Given the description of an element on the screen output the (x, y) to click on. 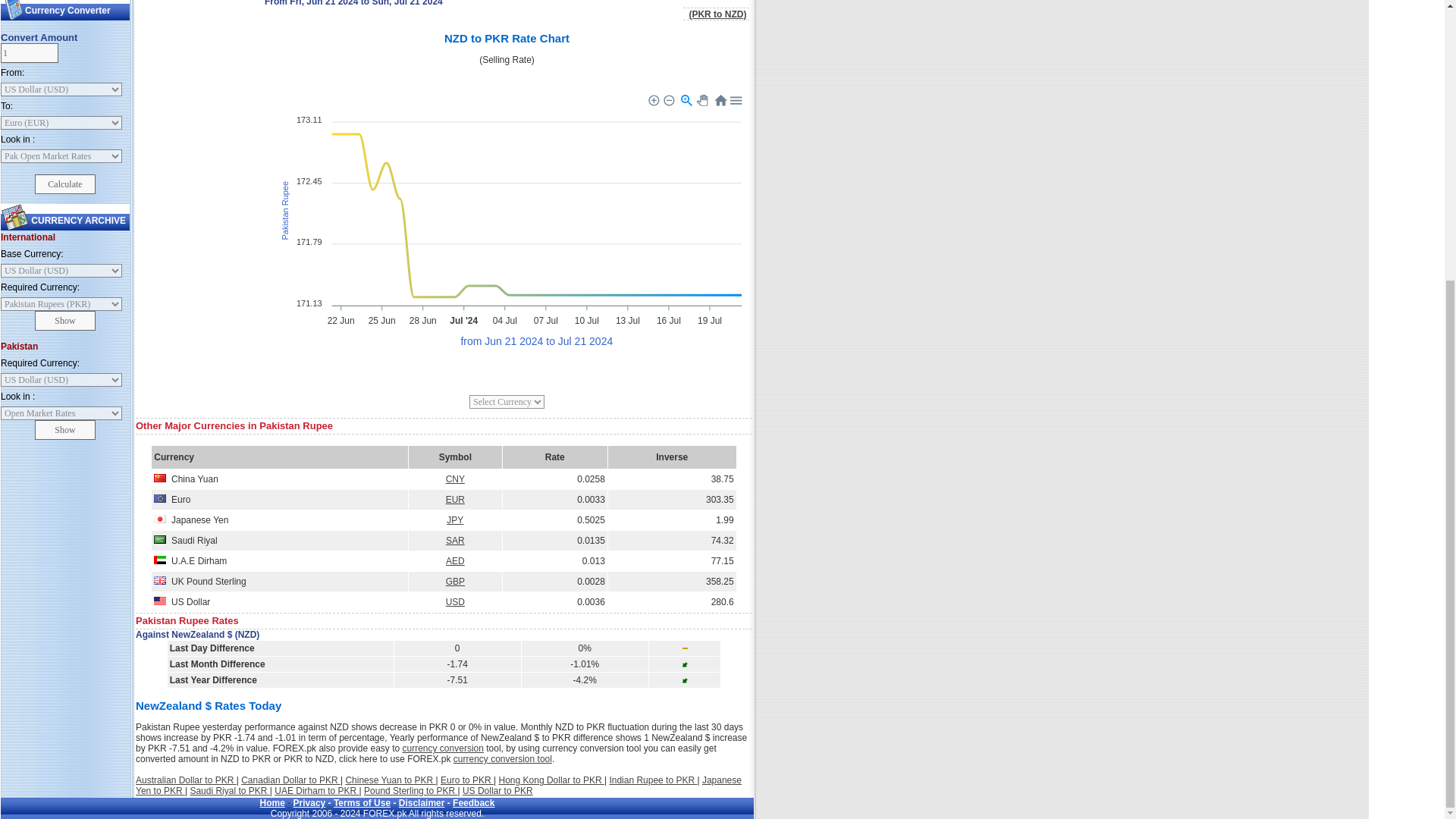
Show (65, 429)
AED (454, 561)
GBP (454, 581)
USD (454, 602)
Reset Zoom (720, 100)
CNY (454, 479)
SAR (454, 540)
Selection Zoom (686, 100)
1 (29, 53)
Panning (704, 102)
Menu (735, 100)
EUR (454, 499)
Calculate (65, 184)
Show (65, 320)
